Given the description of an element on the screen output the (x, y) to click on. 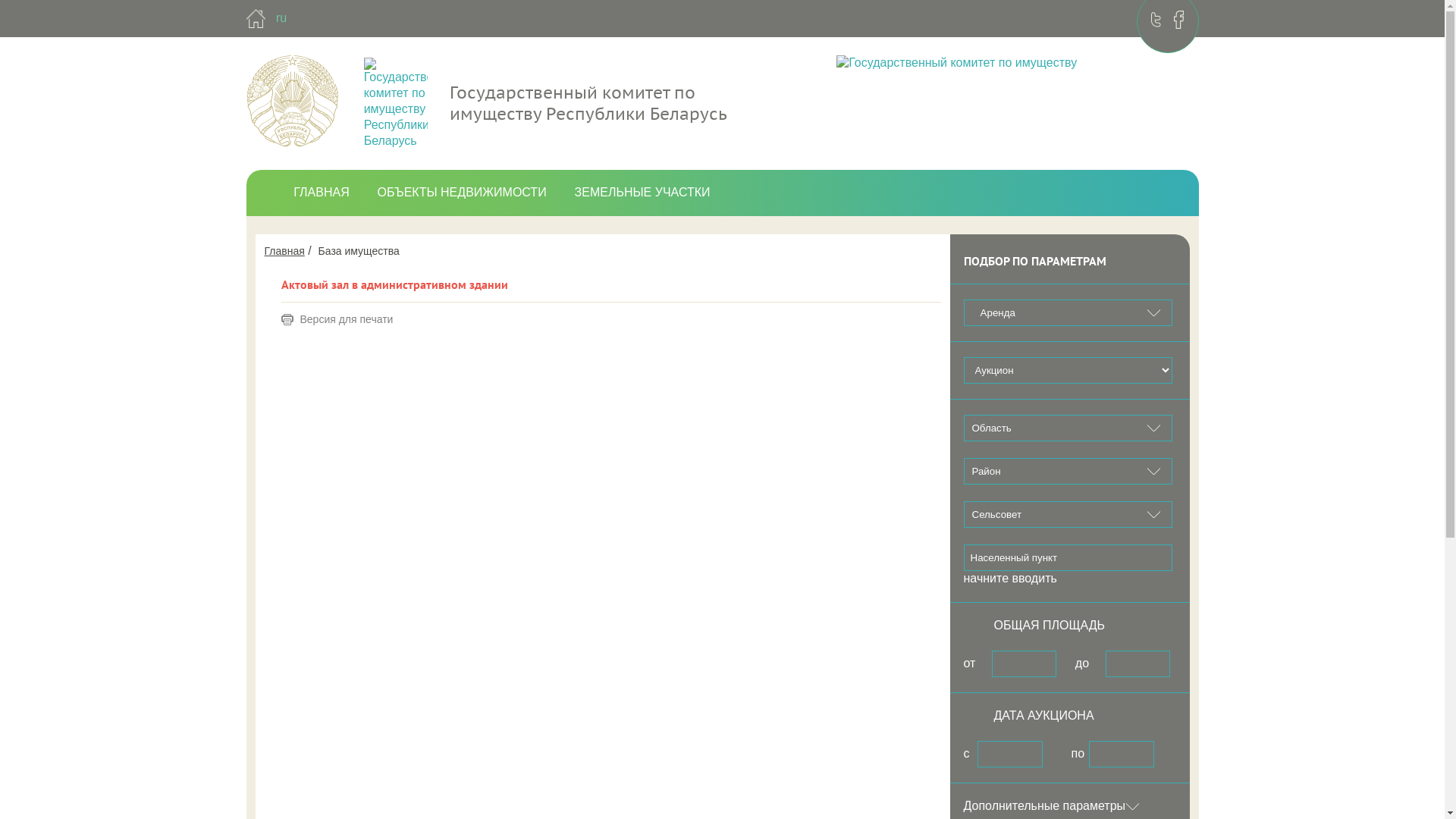
facebook Element type: hover (1178, 19)
twitter Element type: hover (1156, 19)
